Given the description of an element on the screen output the (x, y) to click on. 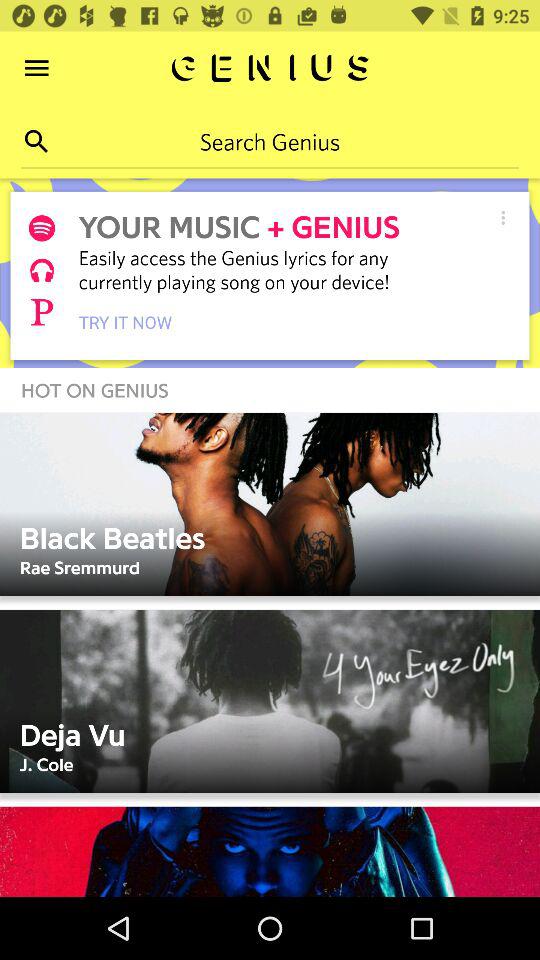
search (36, 141)
